Given the description of an element on the screen output the (x, y) to click on. 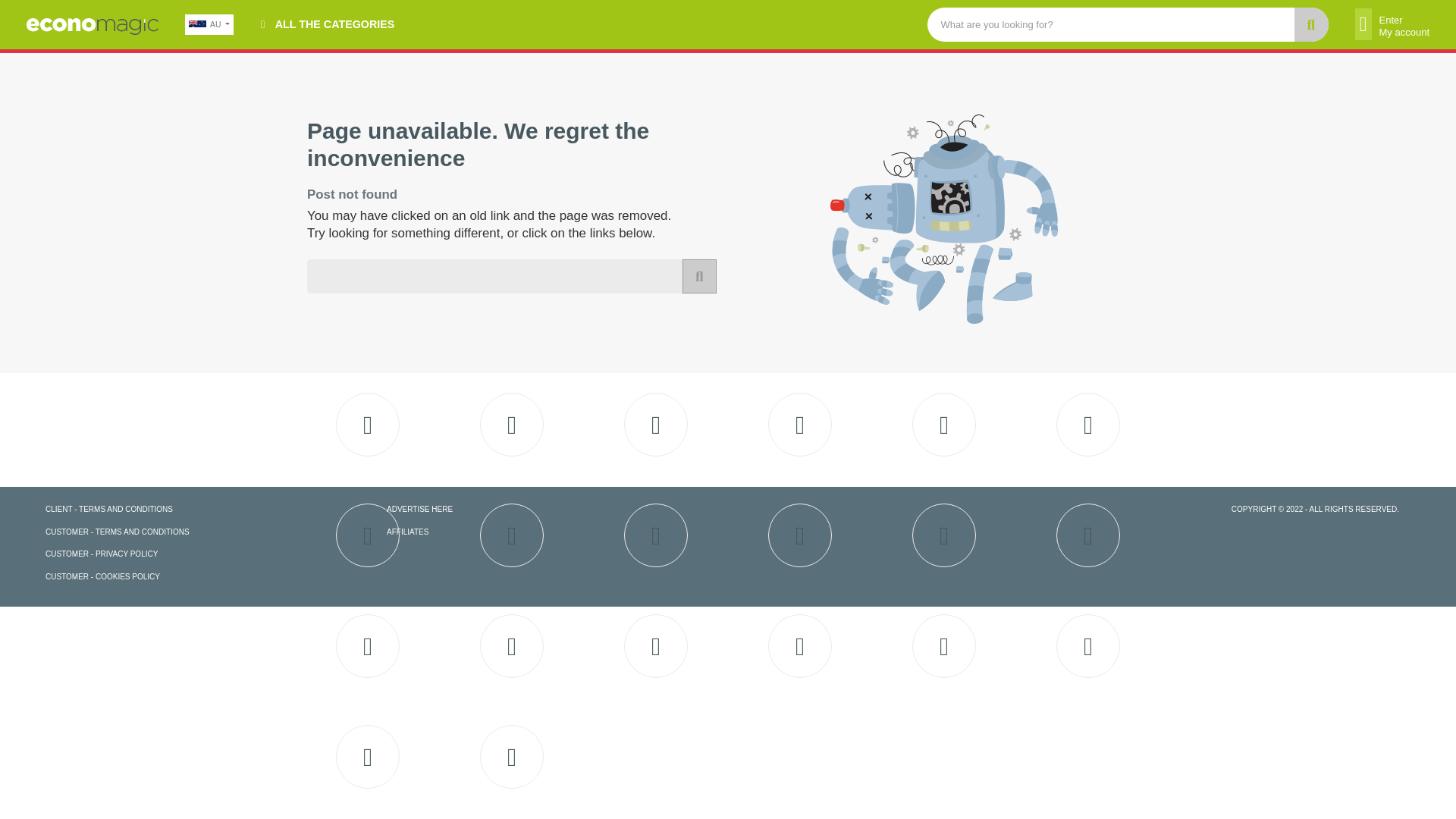
ALL THE CATEGORIES (327, 24)
